Given the description of an element on the screen output the (x, y) to click on. 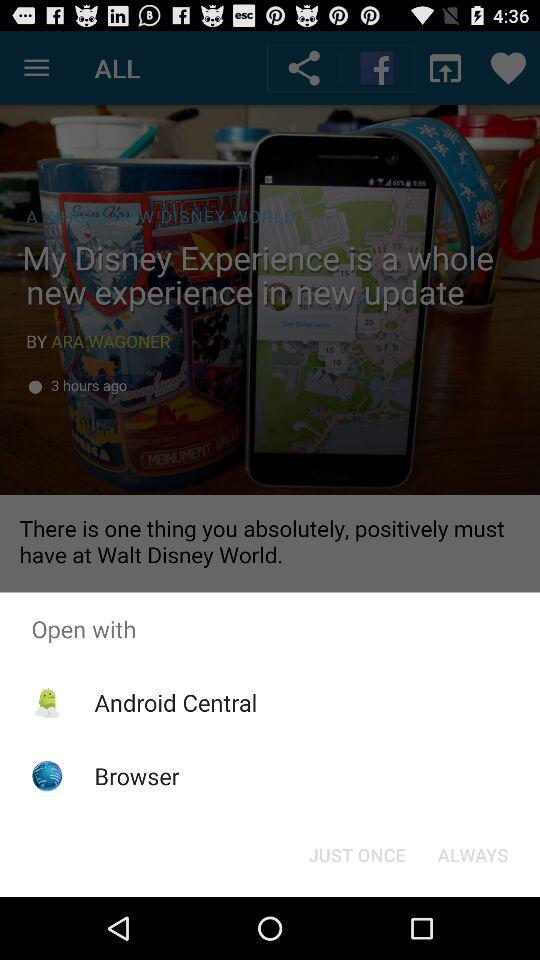
press the button next to just once (472, 854)
